Given the description of an element on the screen output the (x, y) to click on. 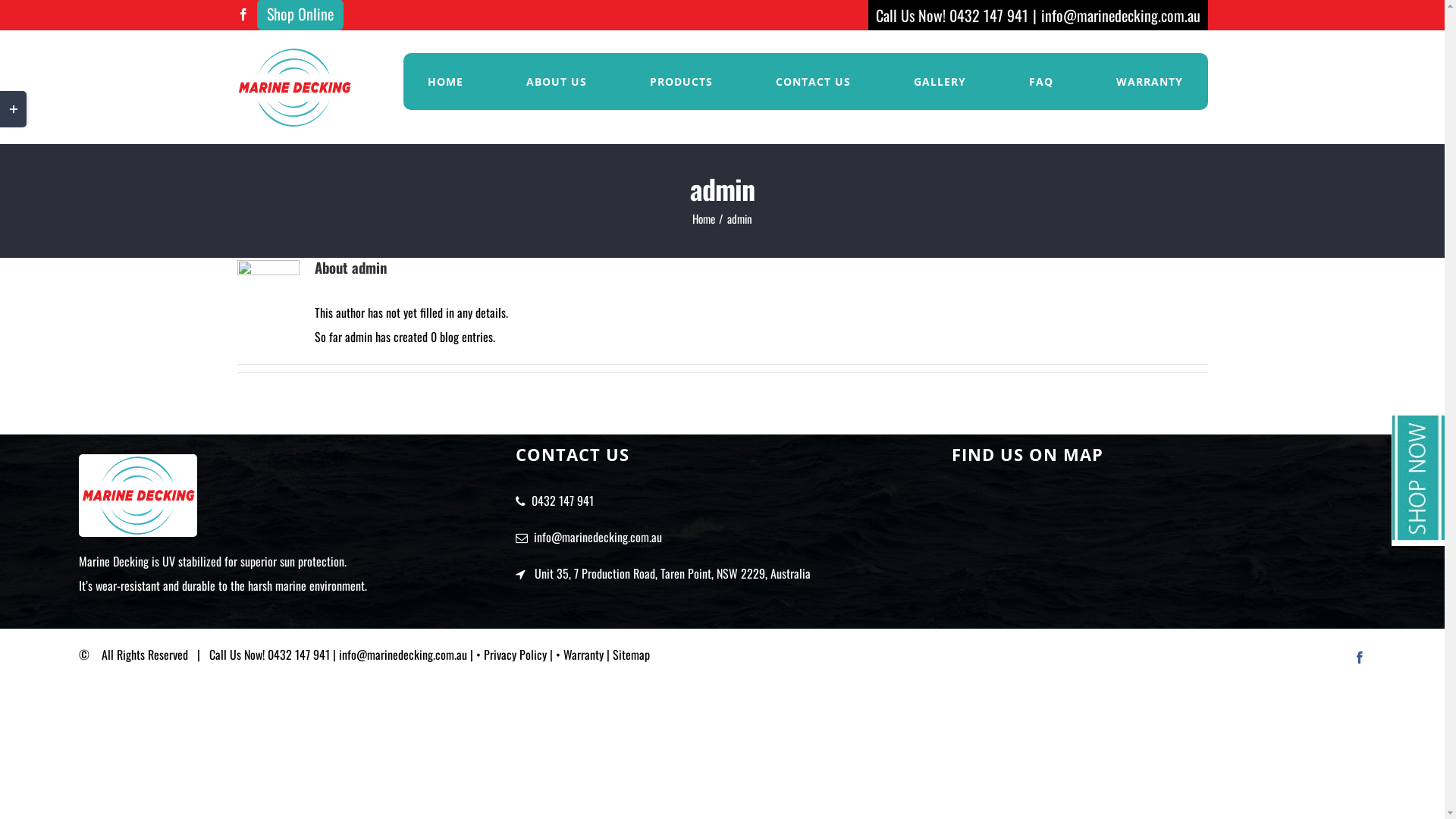
ABOUT US Element type: text (556, 81)
info@marinedecking.com.au Element type: text (597, 536)
Facebook Element type: text (1359, 657)
GALLERY Element type: text (939, 81)
HOME Element type: text (445, 81)
Warranty Element type: text (583, 654)
info@marinedecking.com.au Element type: text (1119, 14)
0432 147 941 Element type: text (988, 14)
CONTACT US Element type: text (812, 81)
FAQ Element type: text (1040, 81)
Toggle Sliding Bar Area Element type: text (13, 109)
Shop Online Element type: text (299, 12)
PRODUCTS Element type: text (680, 81)
Home Element type: text (703, 218)
Privacy Policy Element type: text (514, 654)
WARRANTY Element type: text (1149, 81)
0432 147 941 Element type: text (562, 500)
Sitemap Element type: text (630, 654)
Facebook Element type: text (242, 13)
